Given the description of an element on the screen output the (x, y) to click on. 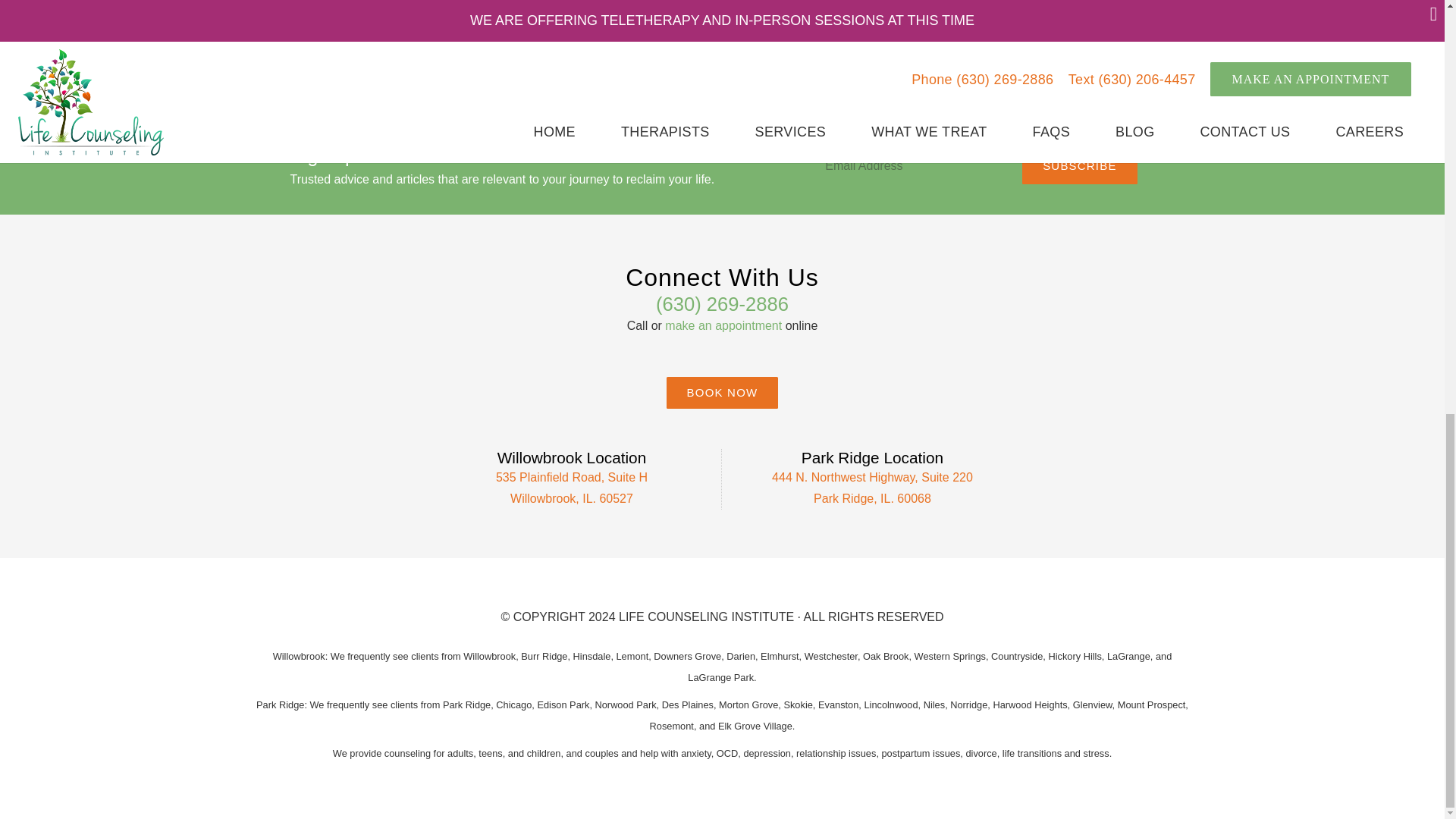
Subscribe (1079, 166)
